Given the description of an element on the screen output the (x, y) to click on. 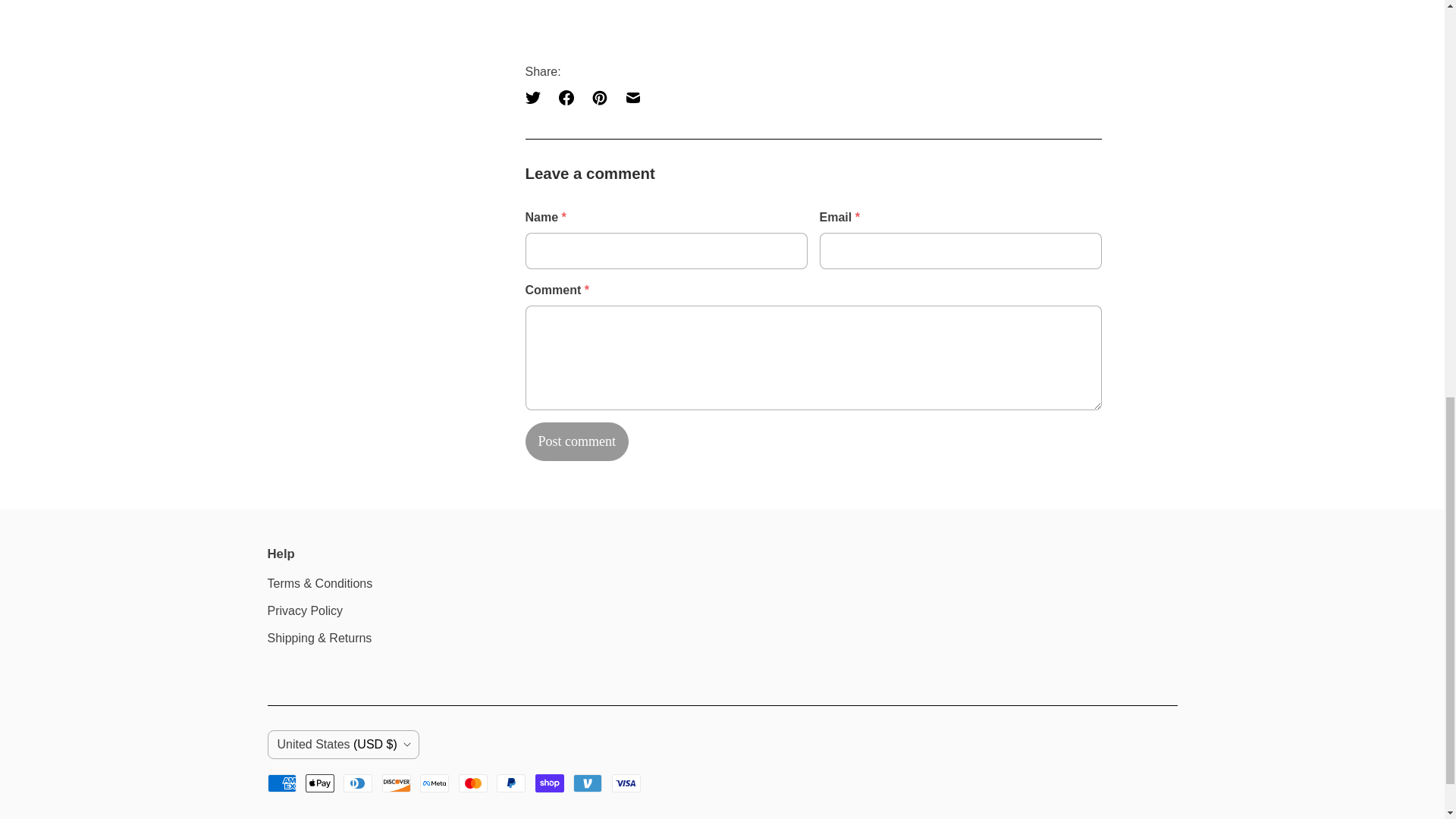
Discover (395, 782)
Diners Club (357, 782)
PayPal (510, 782)
Share this on Facebook (565, 97)
Shop Pay (549, 782)
Meta Pay (434, 782)
Venmo (587, 782)
Post comment (576, 441)
Apple Pay (319, 782)
American Express (280, 782)
Share this on Pinterest (598, 97)
Mastercard (472, 782)
Share this on Twitter (536, 97)
Visa (625, 782)
Email this to a friend (632, 97)
